Given the description of an element on the screen output the (x, y) to click on. 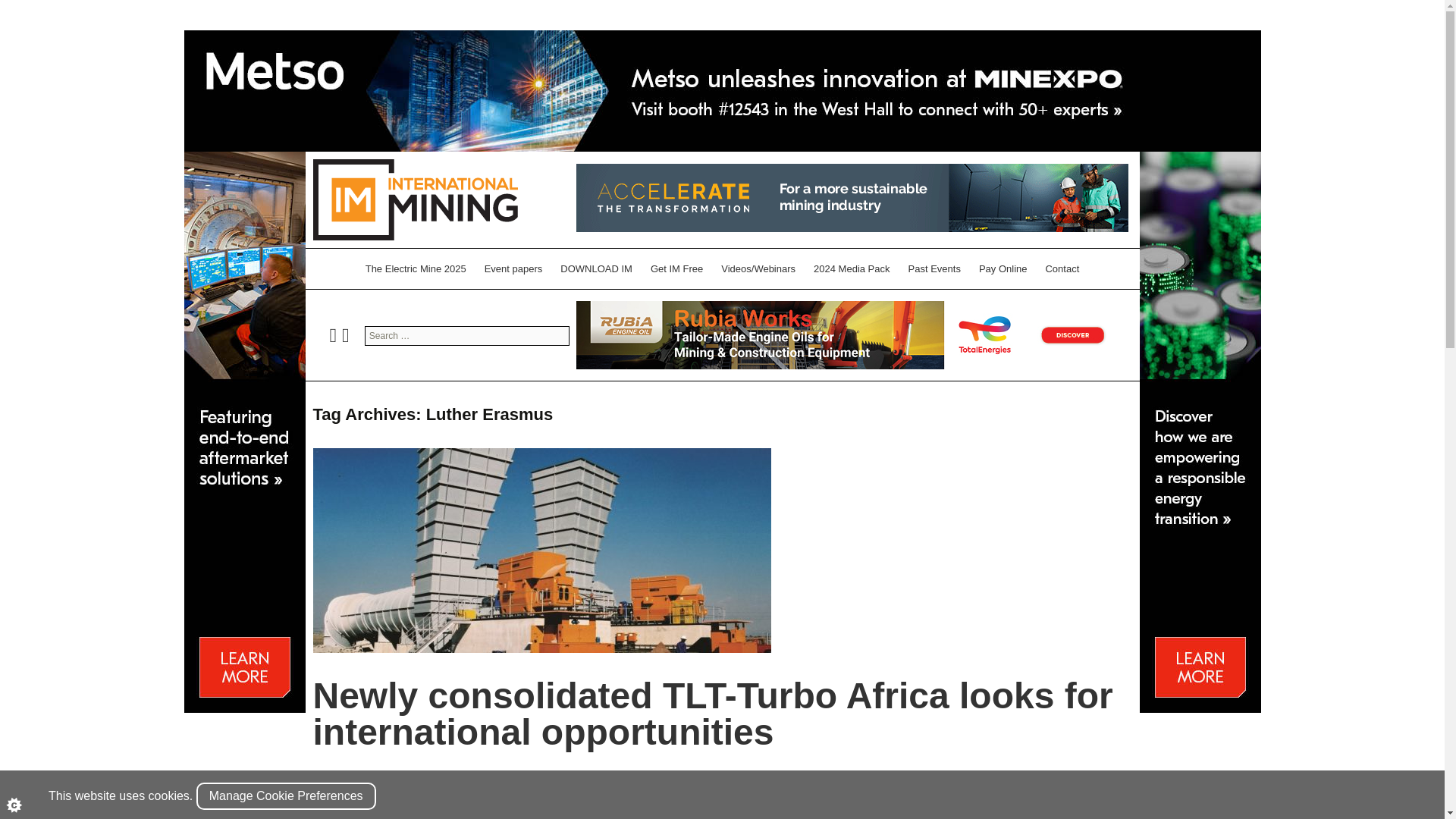
View all posts by Daniel Gleeson (574, 788)
Equipment maintenance (499, 779)
The Electric Mine 2025 (415, 268)
International Mining (414, 199)
Pay Online (1002, 268)
Mine shafts and equipment (608, 779)
Event papers (513, 268)
Environmental (417, 779)
Contact (1062, 268)
Mining maintenance (854, 779)
Get IM Free (676, 268)
DOWNLOAD IM (596, 268)
17th January 2019 (350, 779)
Past Events (933, 268)
